Given the description of an element on the screen output the (x, y) to click on. 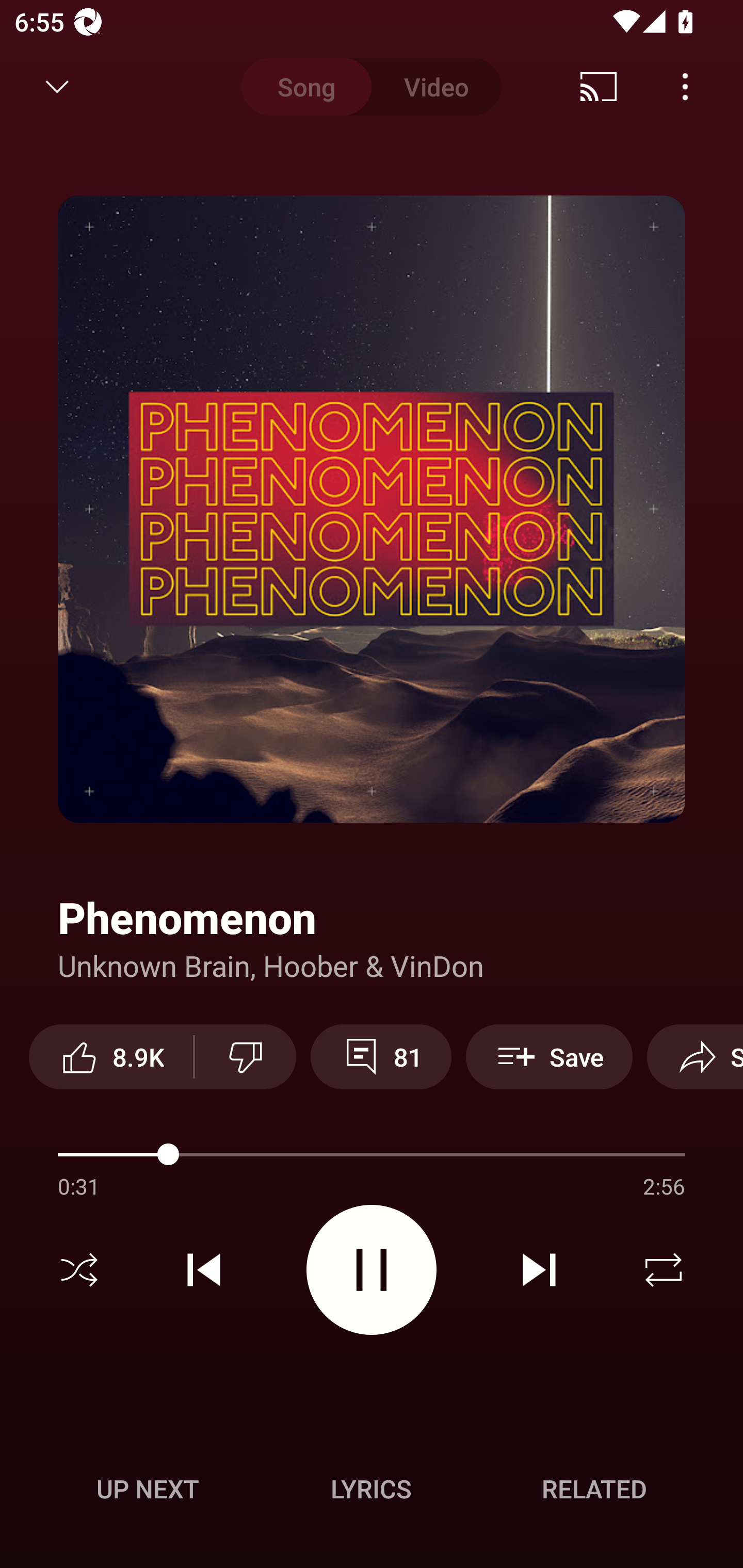
Minimize (57, 86)
Cast. Disconnected (598, 86)
Menu (684, 86)
8.9K like this video along with 8,972 other people (110, 1056)
Dislike (245, 1056)
81 View 81 comments (380, 1056)
Save Save to playlist (548, 1056)
Share (695, 1056)
Pause video (371, 1269)
Shuffle off (79, 1269)
Previous track (203, 1269)
Next track (538, 1269)
Repeat off (663, 1269)
Up next UP NEXT Lyrics LYRICS Related RELATED (371, 1491)
Lyrics LYRICS (370, 1488)
Related RELATED (594, 1488)
